Given the description of an element on the screen output the (x, y) to click on. 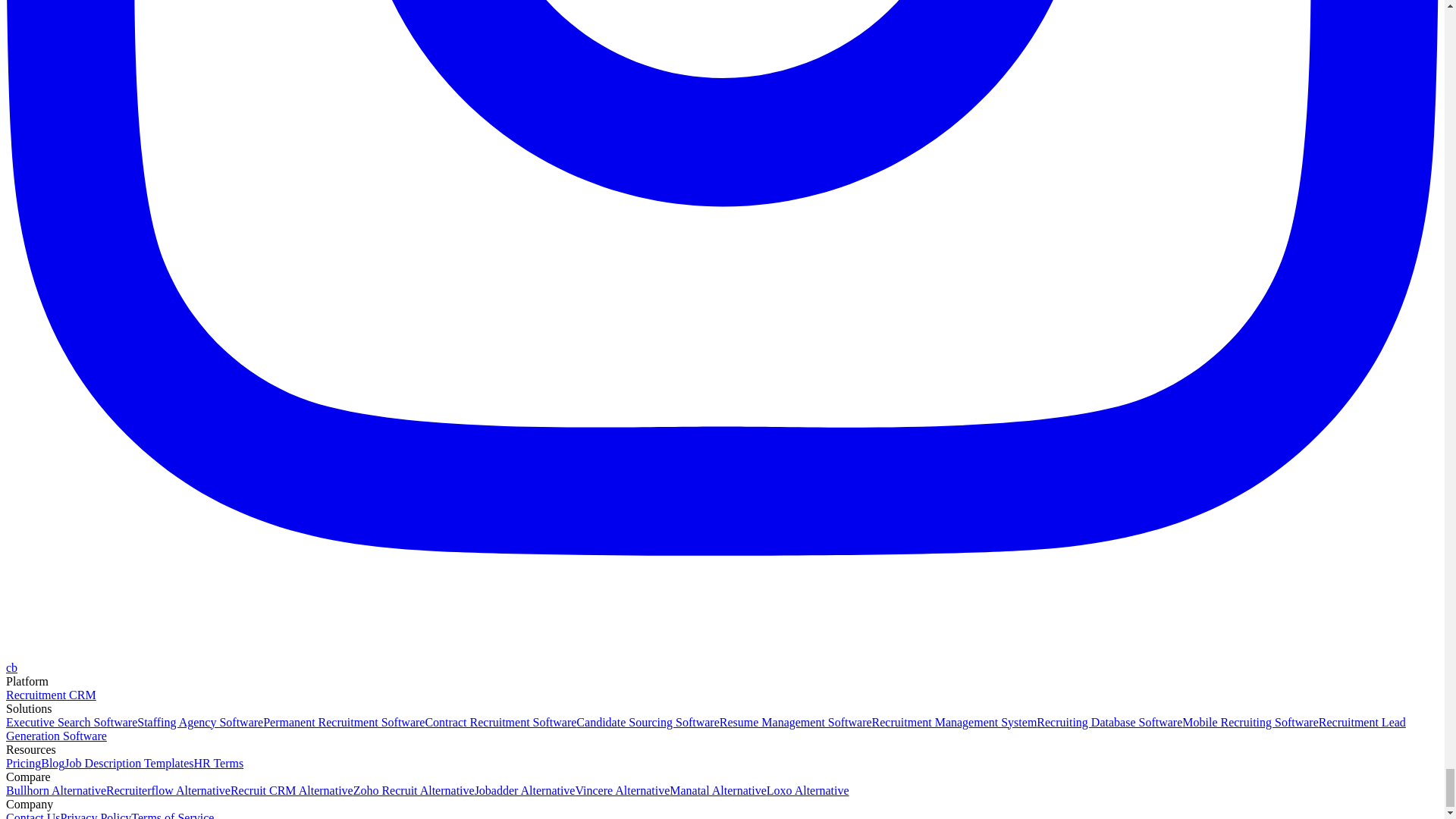
Recruitment Management System (954, 721)
Recruitment CRM (50, 694)
Recruitment Lead Generation Software (705, 728)
Job Description Templates (128, 762)
Permanent Recruitment Software (344, 721)
Mobile Recruiting Software (1250, 721)
Contract Recruitment Software (500, 721)
Blog (52, 762)
Candidate Sourcing Software (647, 721)
Executive Search Software (70, 721)
